Given the description of an element on the screen output the (x, y) to click on. 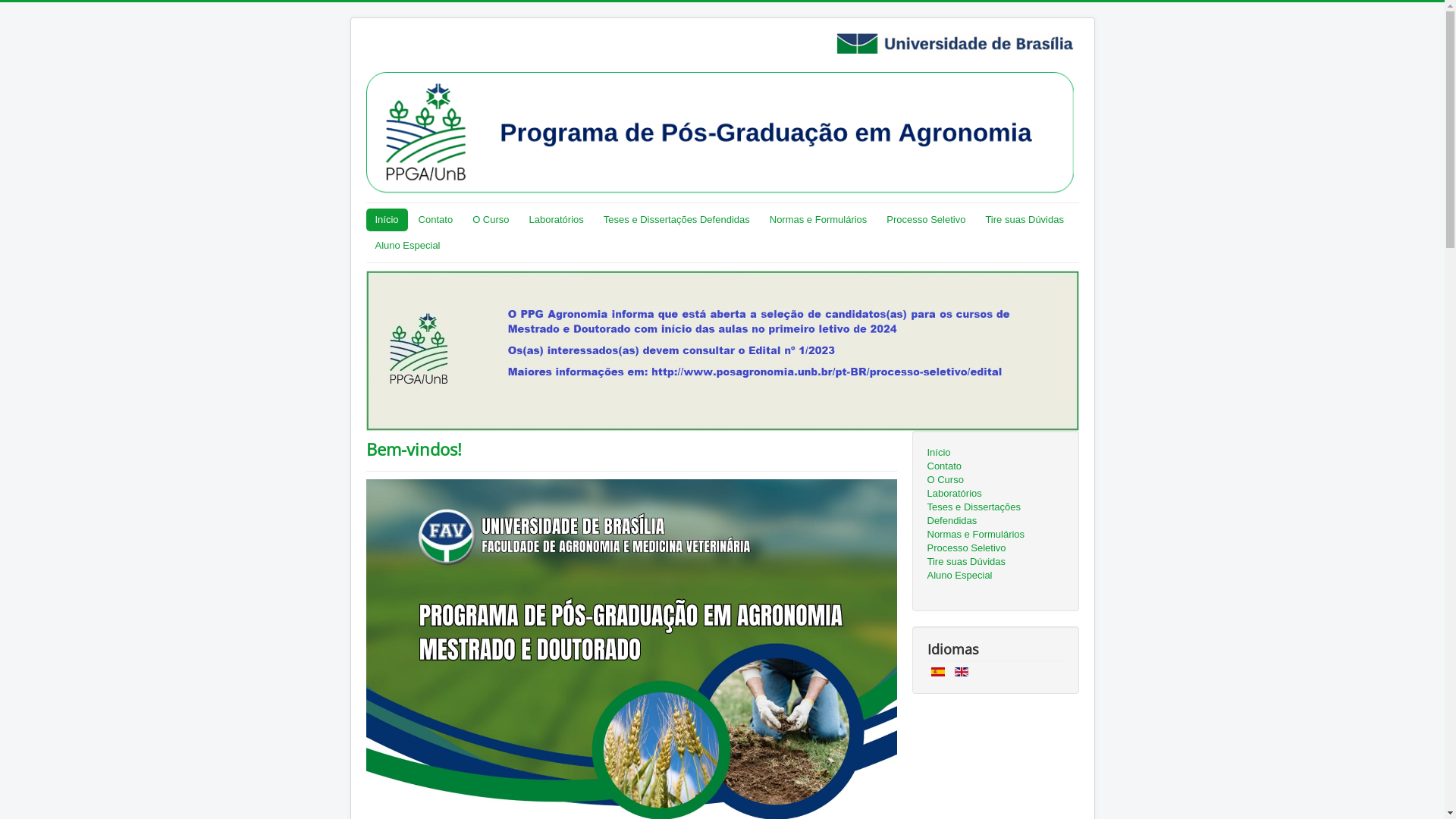
Contato Element type: text (994, 466)
Processo Seletivo Element type: text (925, 219)
Contato Element type: text (435, 219)
English (UK) Element type: hover (961, 671)
O Curso Element type: text (994, 479)
Aluno Especial Element type: text (994, 575)
O Curso Element type: text (490, 219)
Bem-vindos! Element type: text (413, 448)
Processo Seletivo Element type: text (994, 548)
Aluno Especial Element type: text (406, 245)
